Given the description of an element on the screen output the (x, y) to click on. 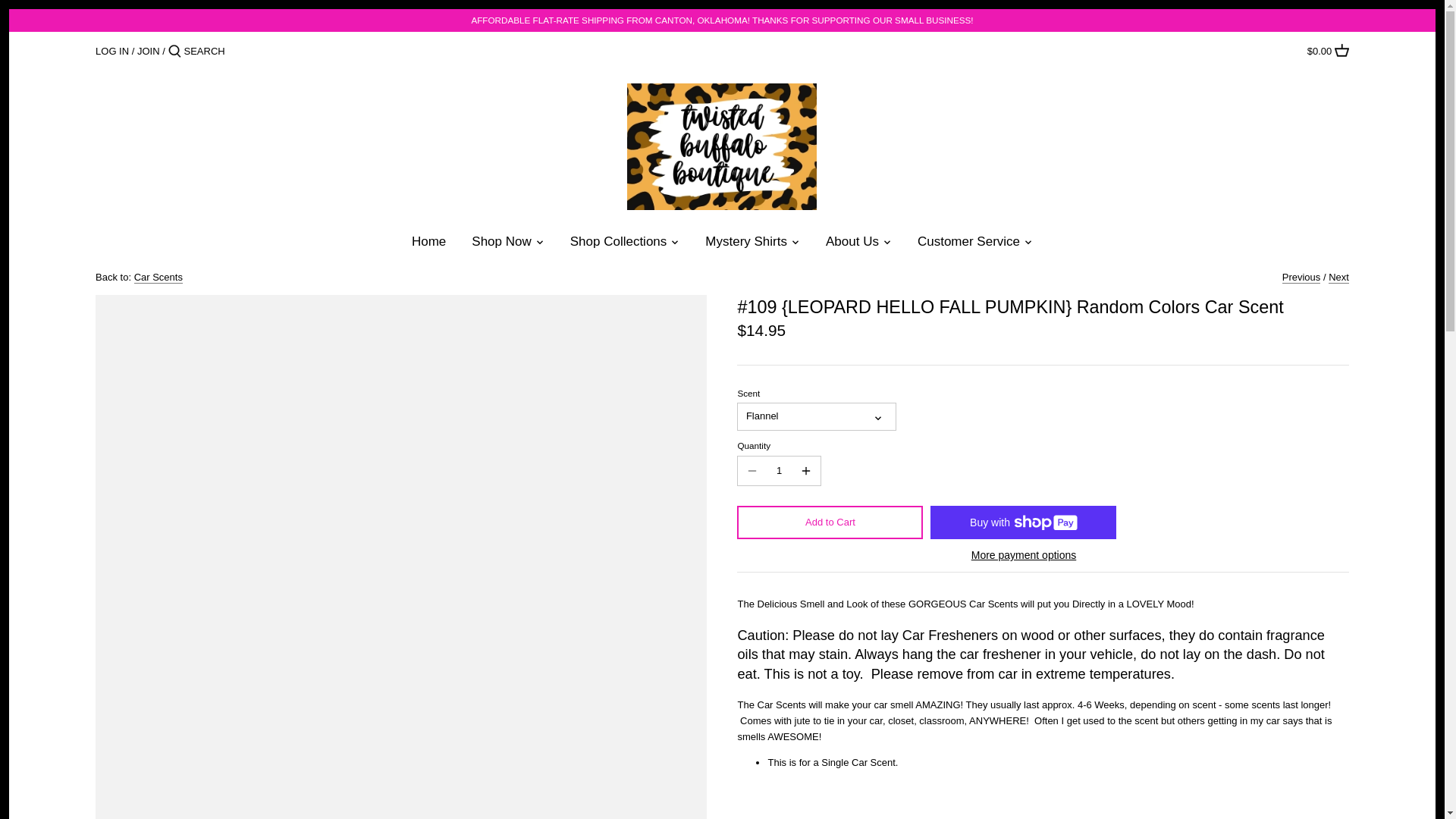
Shop Now (500, 245)
Car Scents (158, 277)
JOIN (148, 50)
LOG IN (112, 50)
About Us (851, 245)
Mystery Shirts (746, 245)
Shop Collections (618, 245)
Home (428, 245)
